Given the description of an element on the screen output the (x, y) to click on. 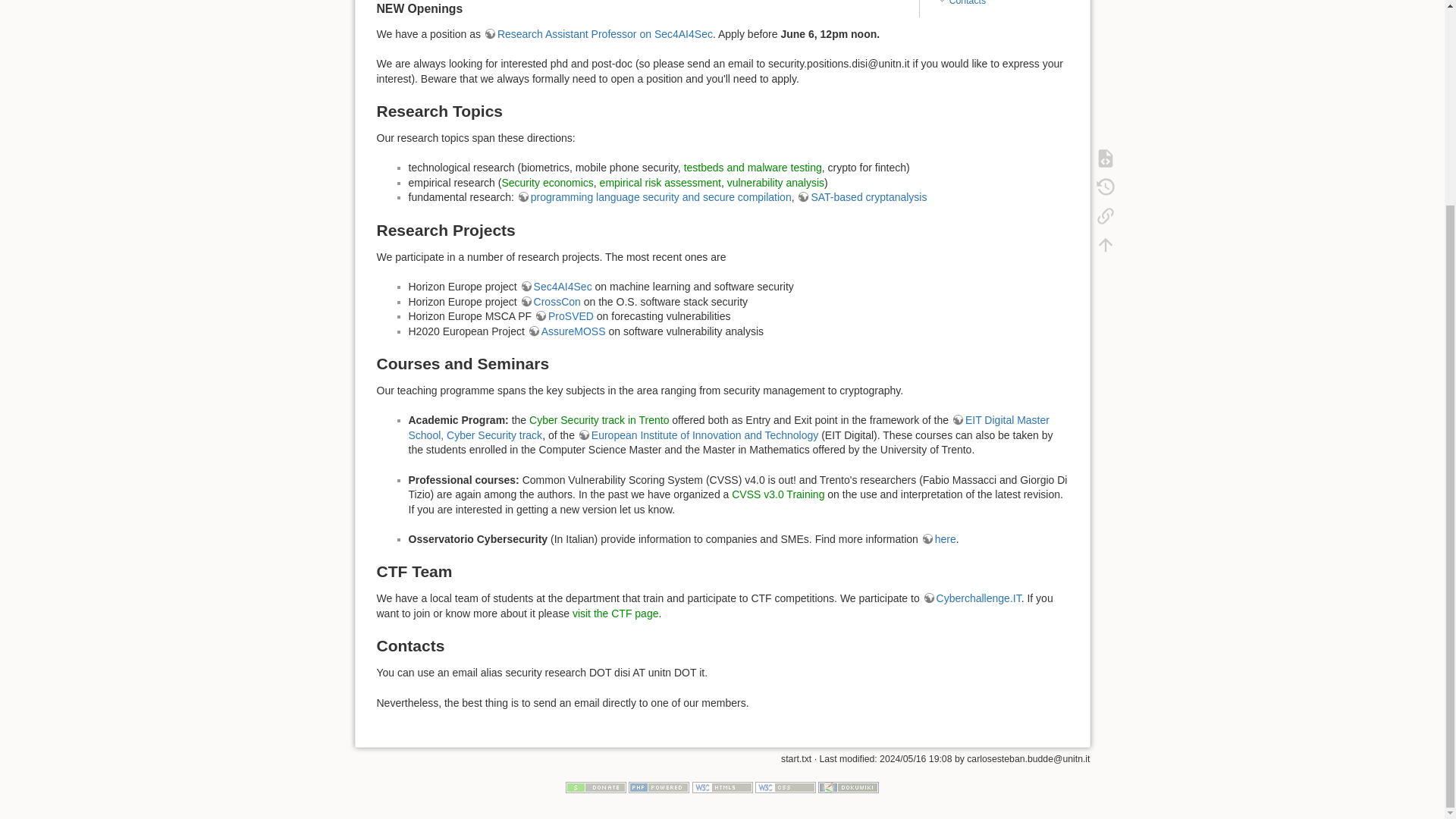
EIT Digital Master School, Cyber Security track (727, 427)
AssureMOSS (566, 331)
CrossCon (549, 301)
testbeds and malware testing (753, 167)
ProSVED (564, 316)
Research Assistant Professor on Sec4AI4Sec (598, 33)
programming language security and secure compilation (654, 196)
SAT-based cryptanalysis (861, 196)
Security economics (546, 182)
European Institute of Innovation and Technology (698, 435)
Cyber Security track in Trento (598, 419)
empirical risk assessment (659, 182)
visit the CTF page (615, 613)
Contacts (967, 2)
CVSS v3.0 Training (778, 494)
